Given the description of an element on the screen output the (x, y) to click on. 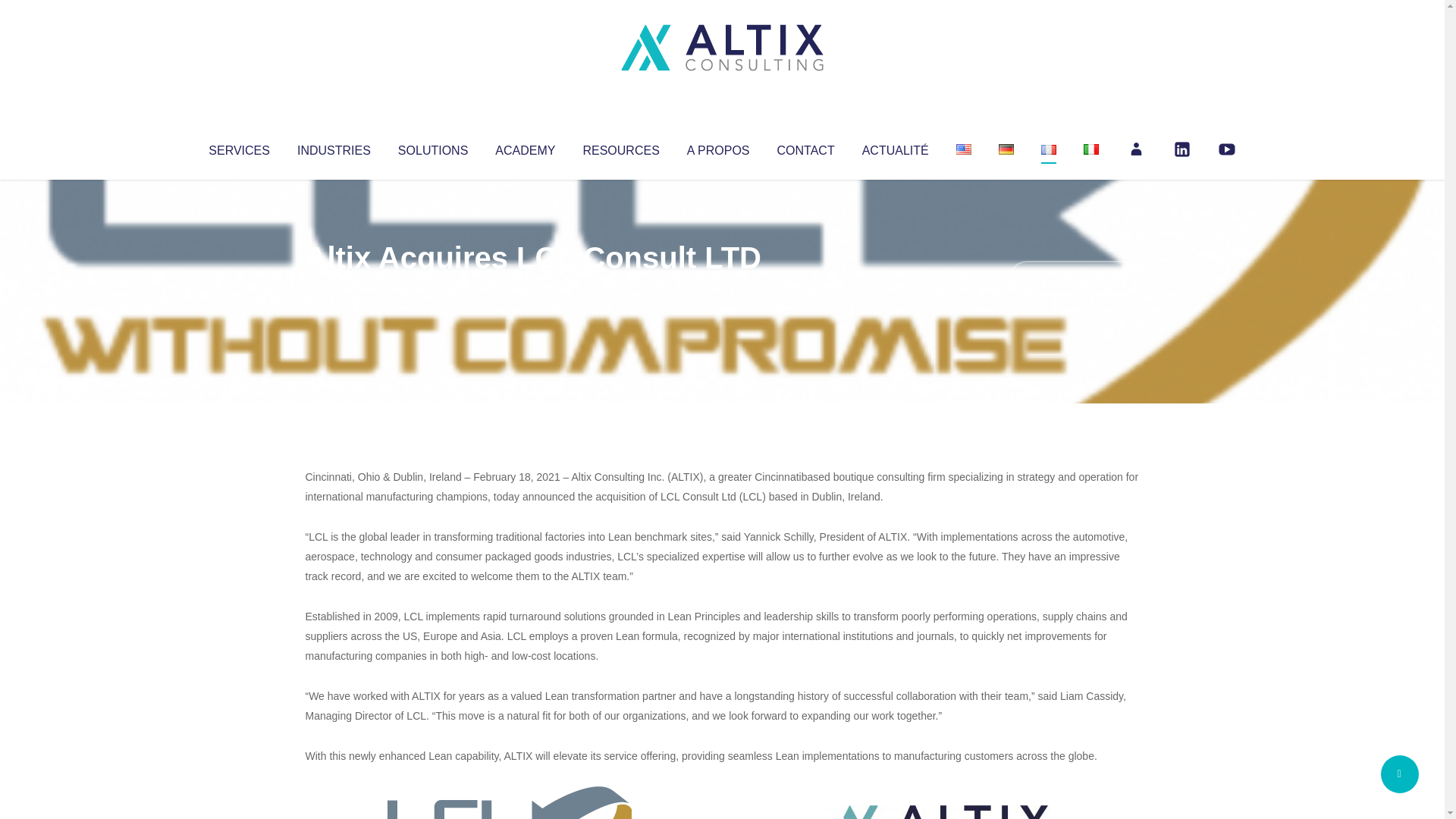
A PROPOS (718, 146)
Altix (333, 287)
SOLUTIONS (432, 146)
No Comments (1073, 278)
ACADEMY (524, 146)
RESOURCES (620, 146)
INDUSTRIES (334, 146)
Uncategorized (530, 287)
SERVICES (238, 146)
Articles par Altix (333, 287)
